Given the description of an element on the screen output the (x, y) to click on. 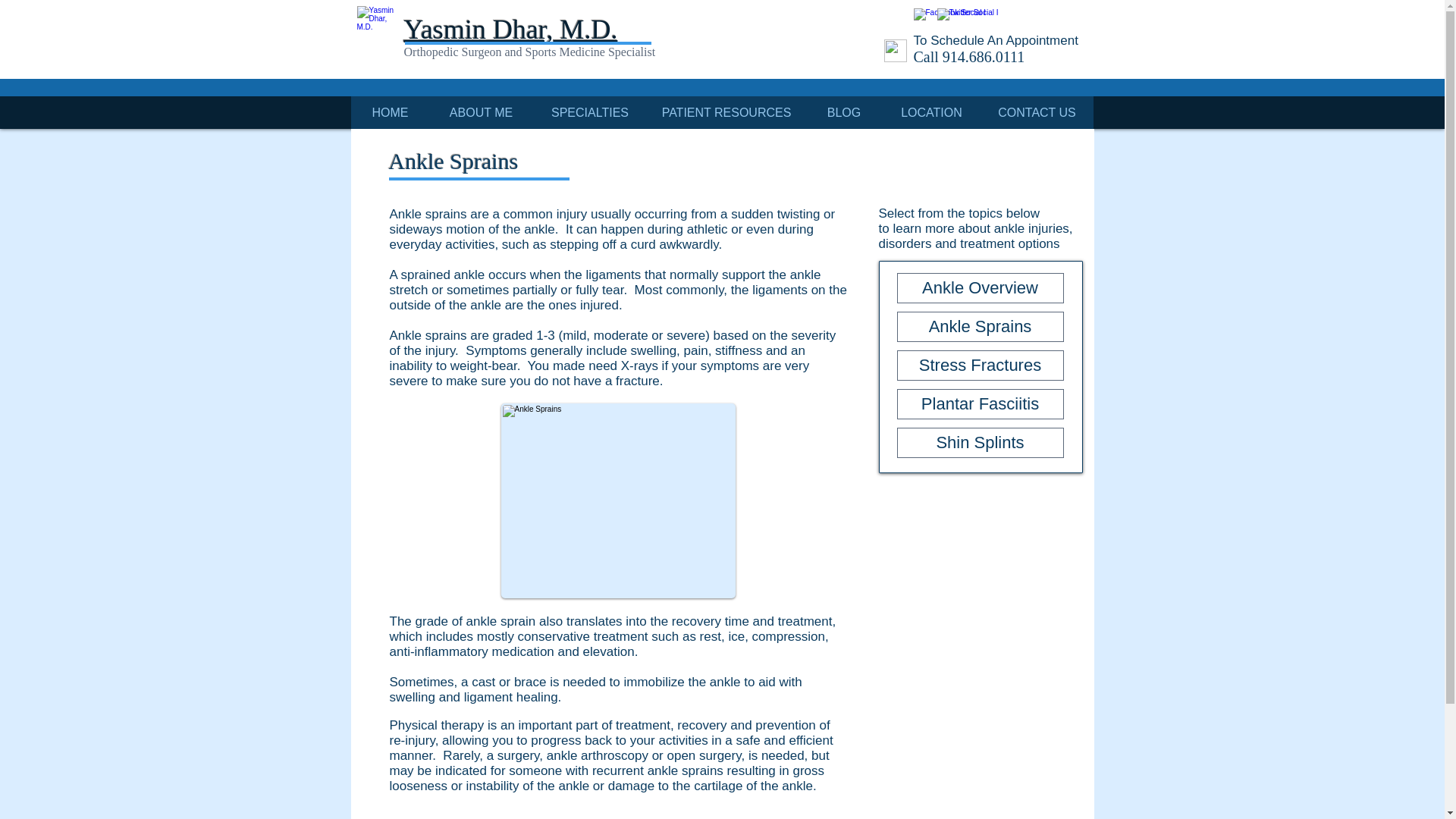
Yasmin Dhar, M.D. (510, 29)
Ankle Sprains (617, 500)
LOCATION (931, 112)
Shin Splints (979, 442)
BLOG (843, 112)
CONTACT US (1037, 112)
PATIENT RESOURCES (726, 112)
HOME (389, 112)
Plantar Fasciitis (979, 404)
Stress Fractures (979, 365)
Ankle Sprains (979, 327)
Ankle Overview (979, 287)
ABOUT ME (480, 112)
